Given the description of an element on the screen output the (x, y) to click on. 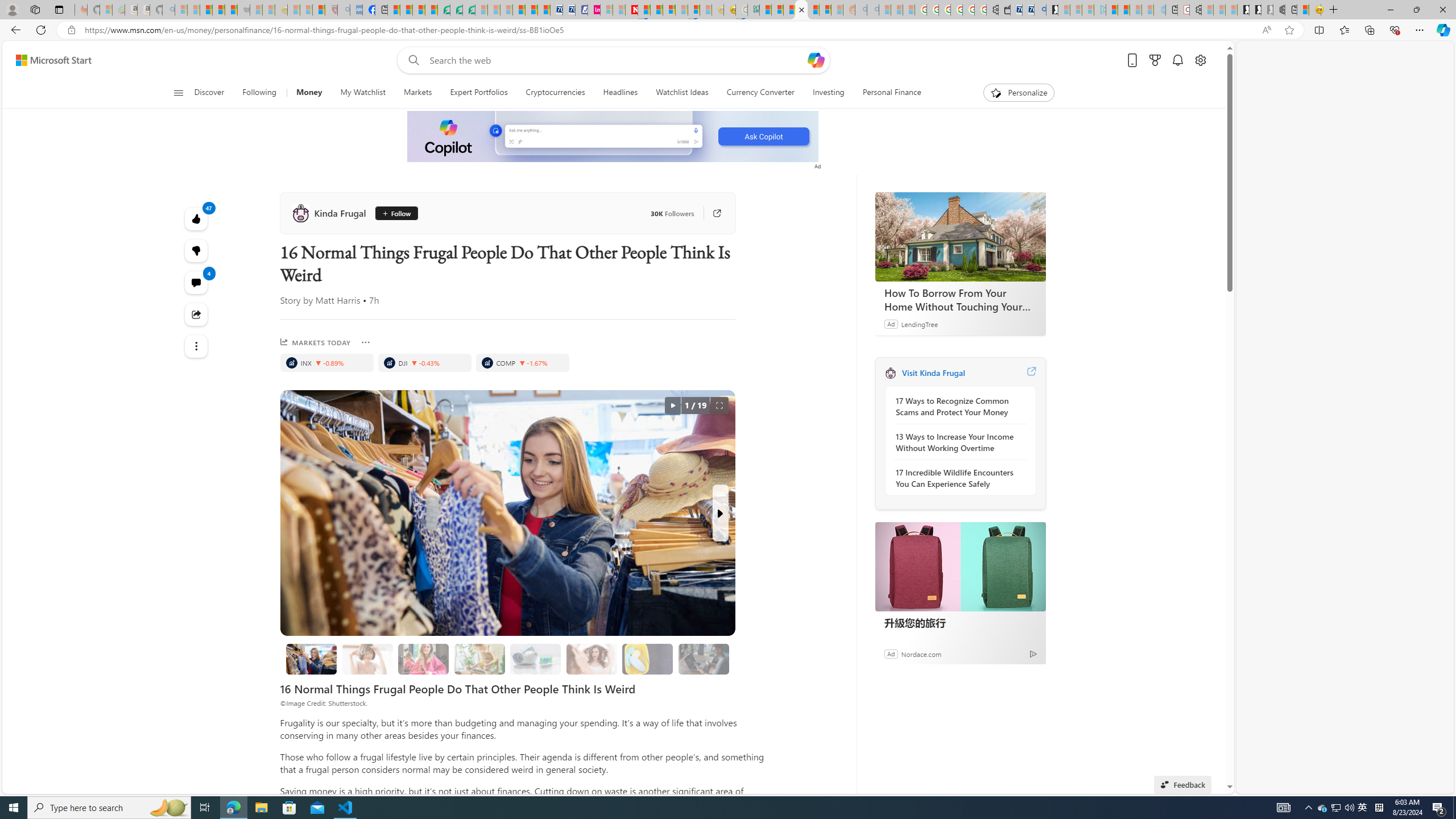
5. Not Washing Hair (591, 658)
DJI, DOW. Price is 40,712.78. Decreased by -0.43% (424, 362)
6. Soap Saving (646, 658)
Next Slide (719, 512)
